Given the description of an element on the screen output the (x, y) to click on. 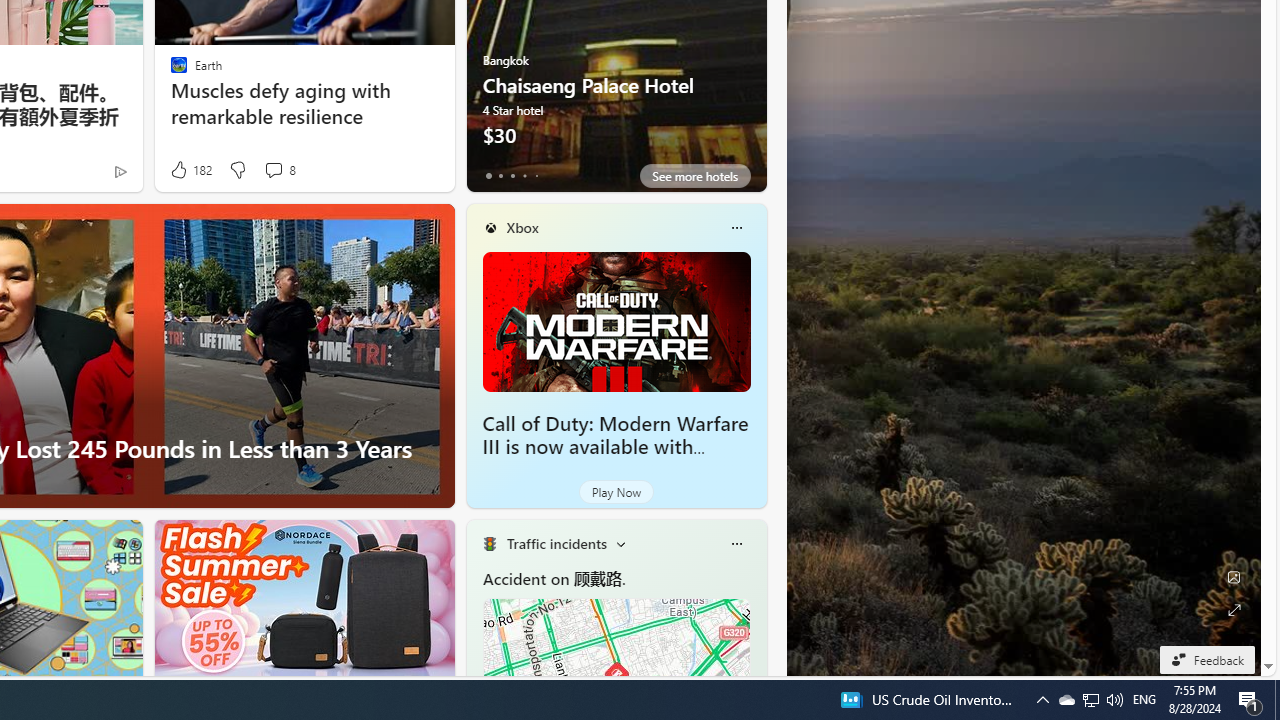
tab-3 (524, 175)
Traffic Title Traffic Light (489, 543)
Xbox (521, 227)
View comments 8 Comment (273, 169)
Play Now (616, 491)
Change scenarios (620, 543)
